Given the description of an element on the screen output the (x, y) to click on. 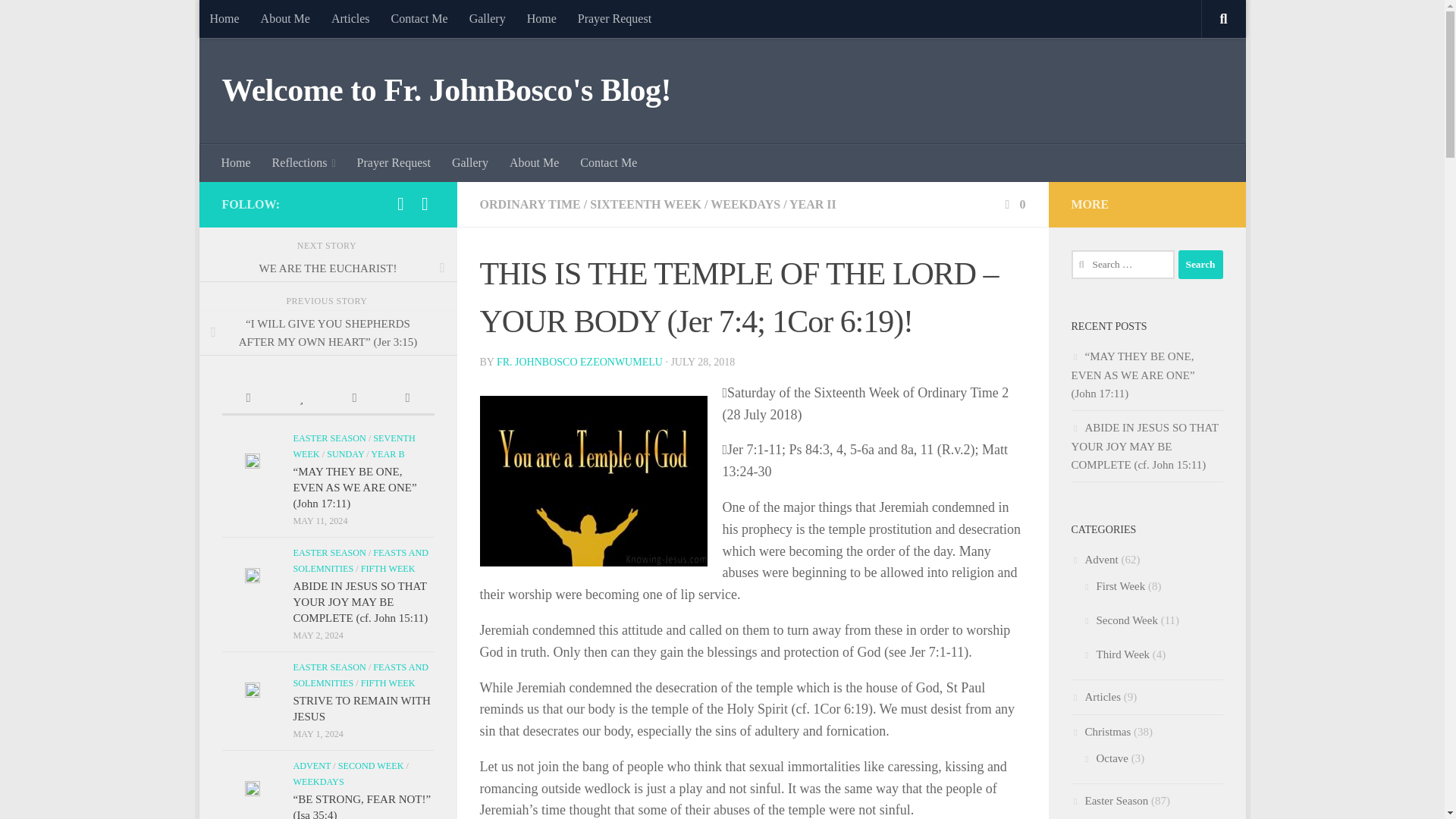
Home (236, 162)
Prayer Request (614, 18)
Gallery (487, 18)
Articles (350, 18)
Skip to content (258, 20)
Reflections (304, 162)
About Me (285, 18)
Posts by Fr. JohnBosco Ezeonwumelu (579, 361)
Home (541, 18)
Facebook (400, 203)
Search (1200, 264)
Contact Me (419, 18)
Home (223, 18)
Welcome to Fr. JohnBosco's Blog! (446, 90)
Search (1200, 264)
